Given the description of an element on the screen output the (x, y) to click on. 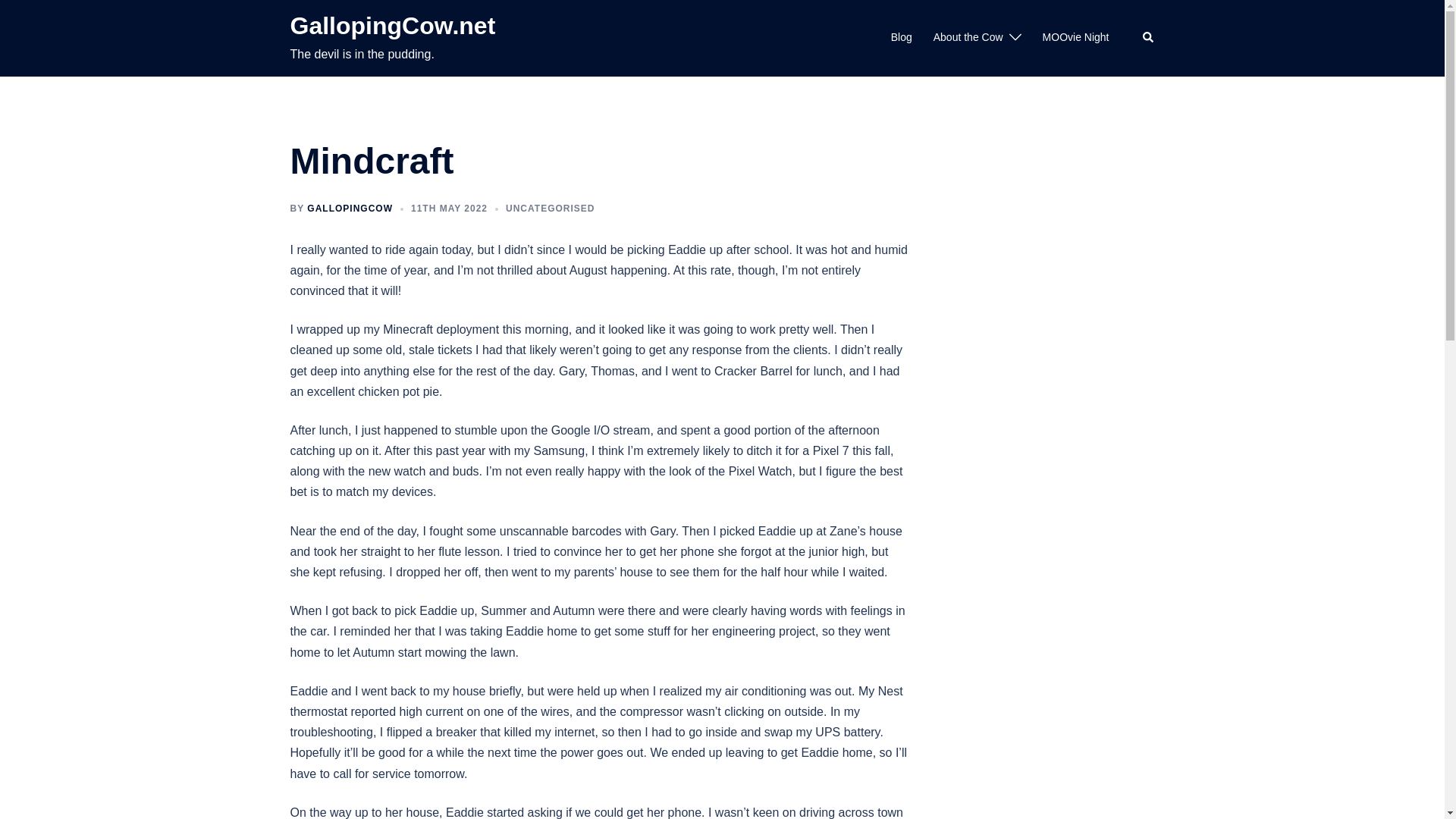
GallopingCow.net (392, 25)
Search (1147, 37)
MOOvie Night (1075, 37)
About the Cow (968, 37)
GALLOPINGCOW (350, 208)
UNCATEGORISED (549, 208)
Blog (901, 37)
11TH MAY 2022 (448, 208)
